Given the description of an element on the screen output the (x, y) to click on. 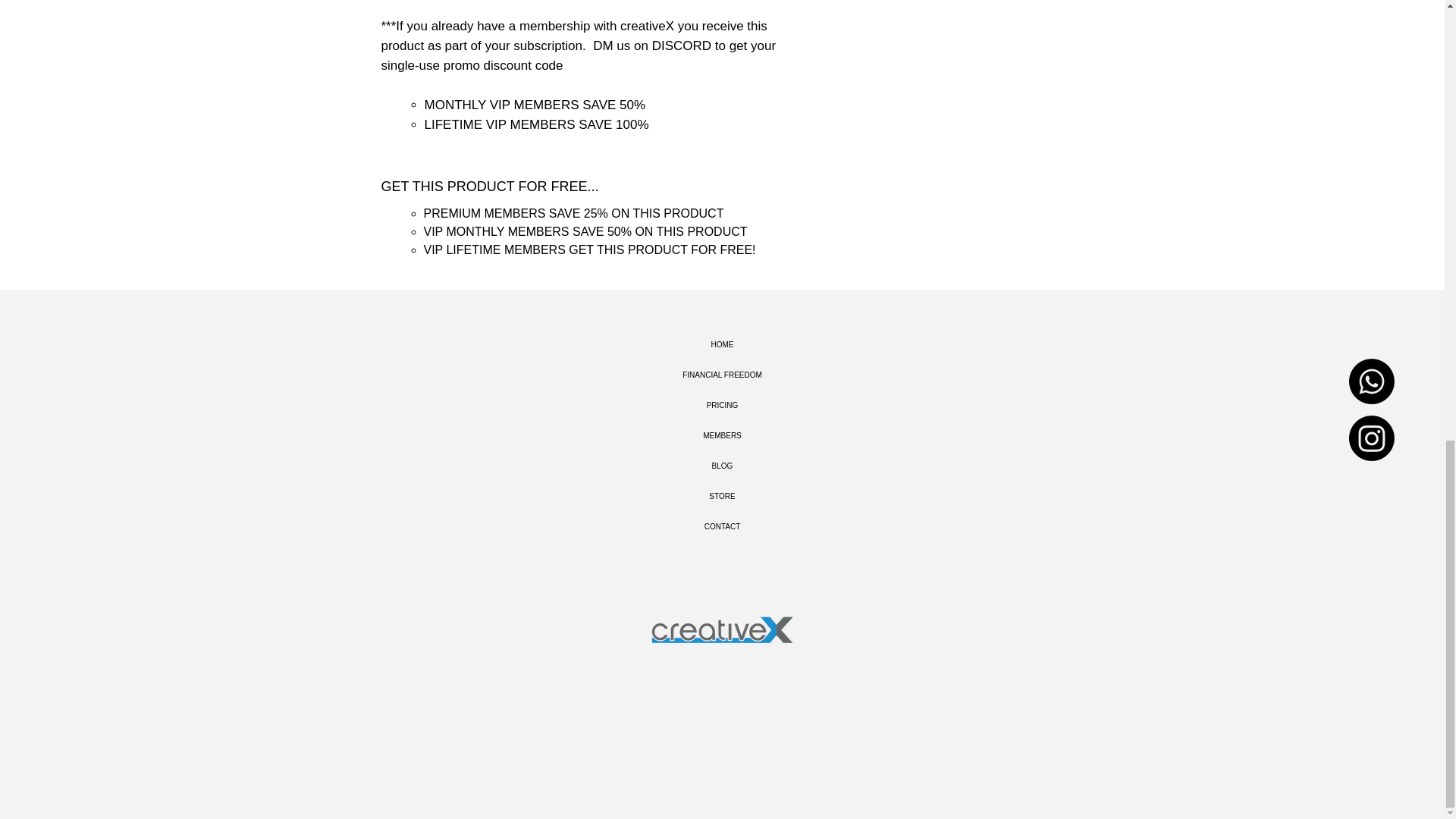
FINANCIAL FREEDOM (721, 375)
PRICING (721, 405)
HOME (721, 345)
CONTACT (721, 526)
STORE (721, 496)
BLOG (721, 466)
MEMBERS (721, 435)
